Given the description of an element on the screen output the (x, y) to click on. 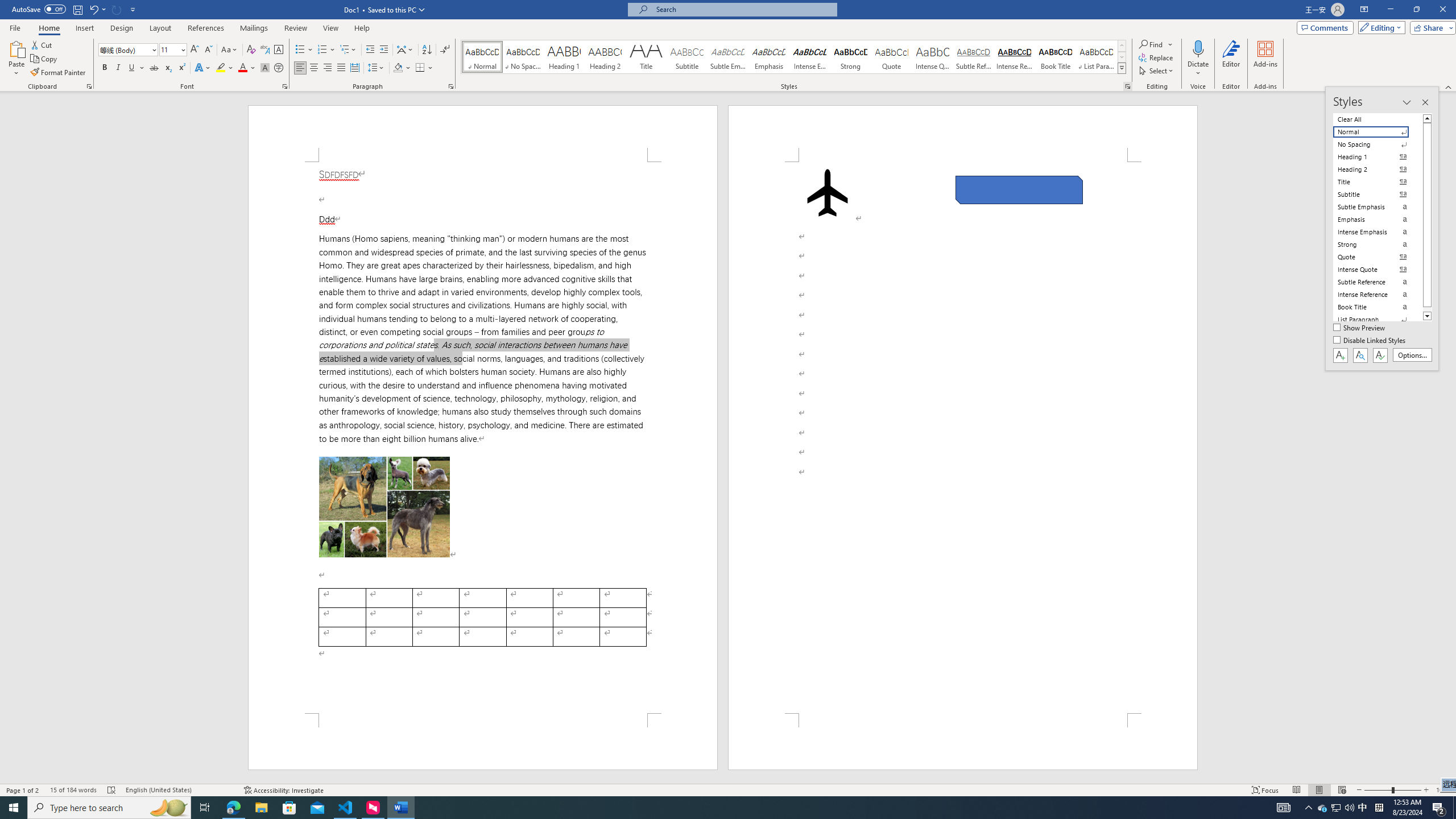
Editing (1379, 27)
Font (128, 49)
Zoom 104% (1443, 790)
Italic (118, 67)
Close (1442, 9)
Title (646, 56)
Collapse the Ribbon (1448, 86)
Emphasis (768, 56)
Decrease Indent (370, 49)
Page 1 content (482, 437)
Class: MsoCommandBar (728, 45)
AutoSave (38, 9)
Print Layout (1318, 790)
Replace... (1156, 56)
Customize Quick Access Toolbar (133, 9)
